Given the description of an element on the screen output the (x, y) to click on. 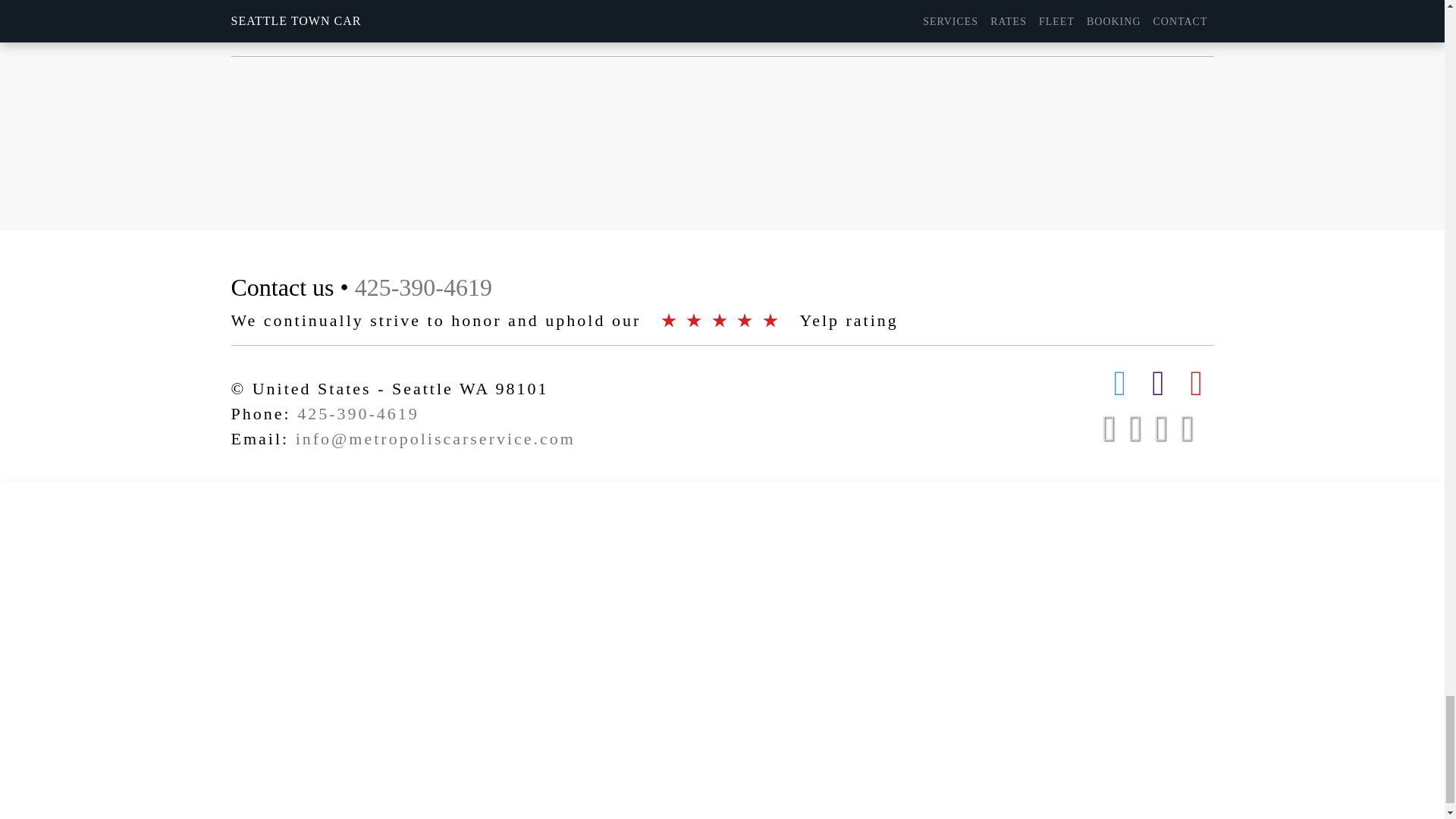
5 Stars Yelp.com rating (723, 320)
425-390-4619 (819, 28)
425-390-4619 (358, 413)
425-390-4619 (423, 287)
